Given the description of an element on the screen output the (x, y) to click on. 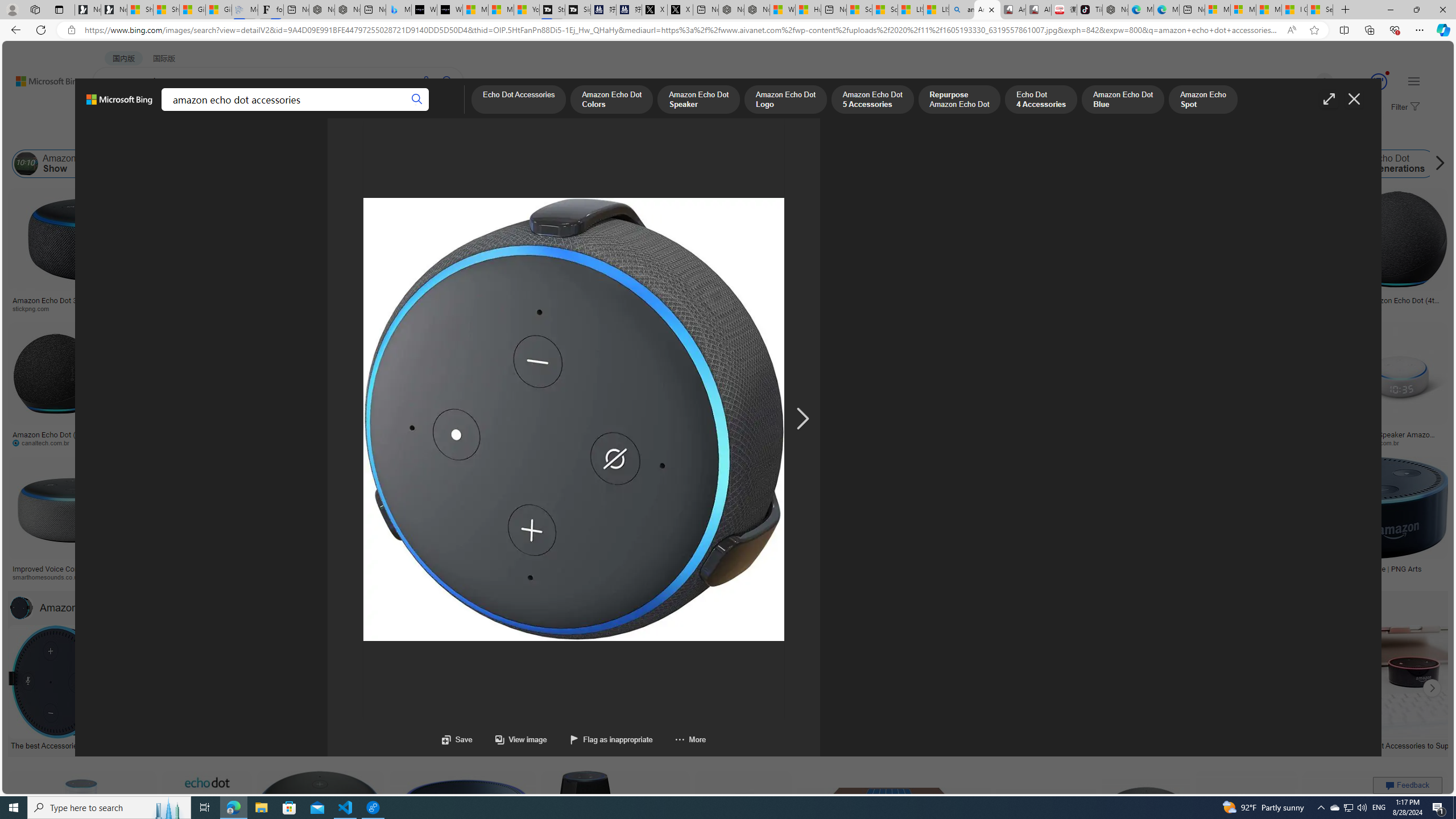
Feedback (1407, 785)
Android Central (413, 576)
Amazon Echo Dot 3 (1278, 163)
Amazon Echo Dot PNG transparente - StickPNG (349, 303)
IMAGES (156, 112)
Amazon Echo Dot with Clock (447, 163)
People (295, 135)
ACADEMIC (311, 111)
Echo Dot Accessories (828, 744)
